Given the description of an element on the screen output the (x, y) to click on. 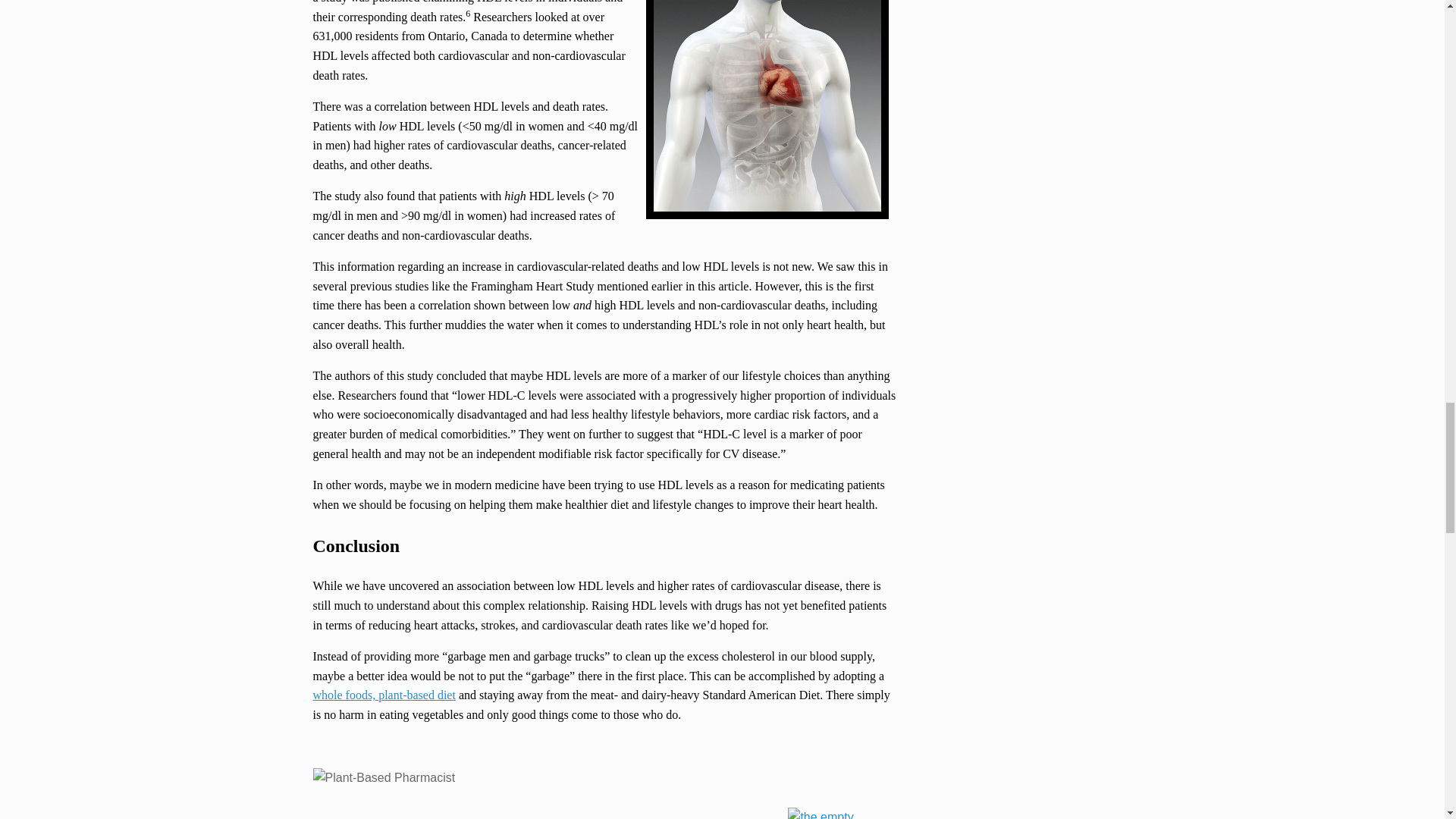
The Empty Medicine Cabinet (837, 813)
